Given the description of an element on the screen output the (x, y) to click on. 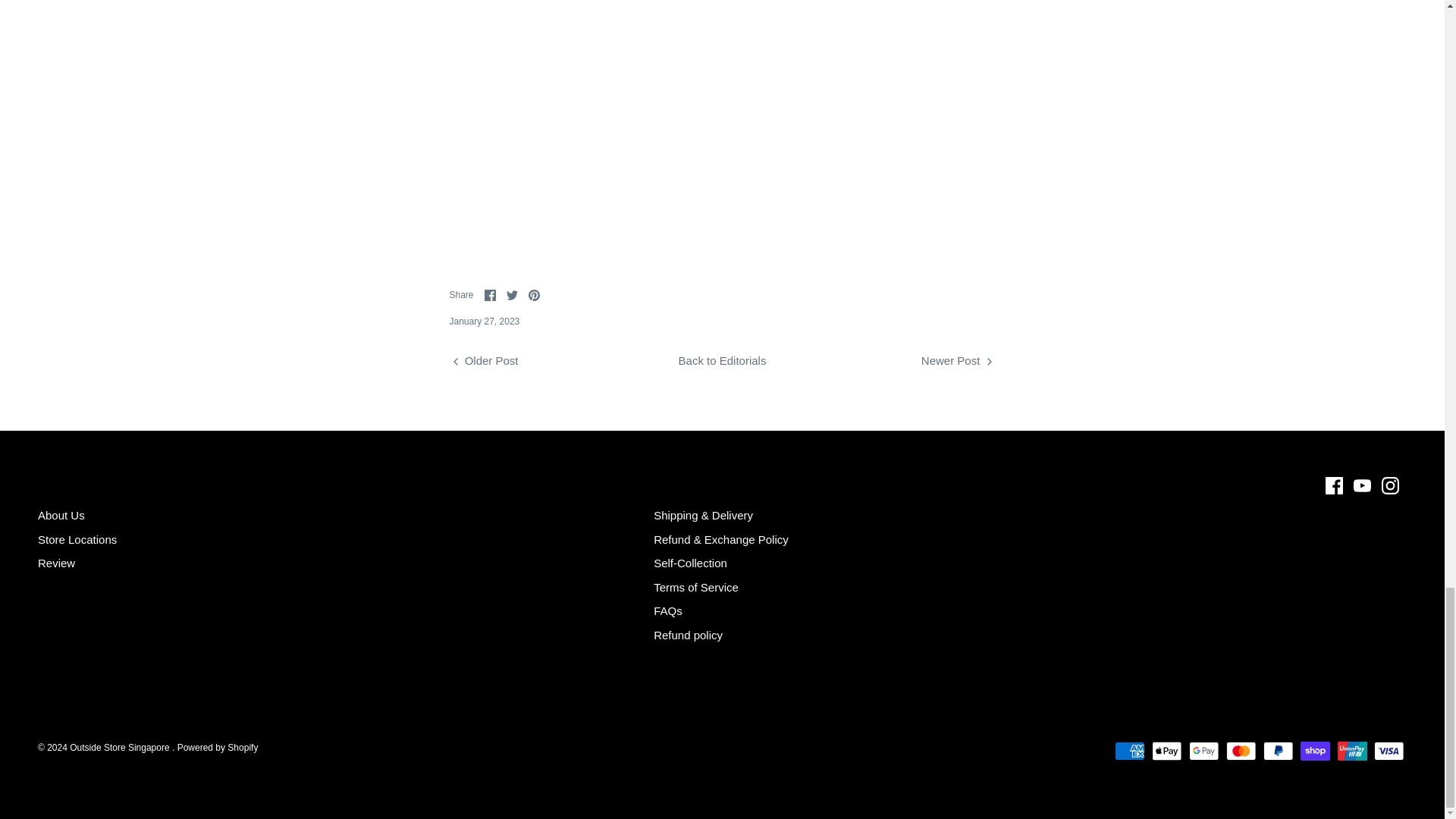
Facebook (1333, 485)
Shop Pay (1315, 751)
Twitter (512, 295)
YouTube video player (721, 122)
PayPal (1277, 751)
Left (454, 361)
American Express (1129, 751)
Google Pay (1203, 751)
Youtube (1362, 485)
Mastercard (1240, 751)
Facebook (490, 295)
Pinterest (534, 295)
Instagram (1390, 485)
Union Pay (1352, 751)
Right (988, 361)
